Given the description of an element on the screen output the (x, y) to click on. 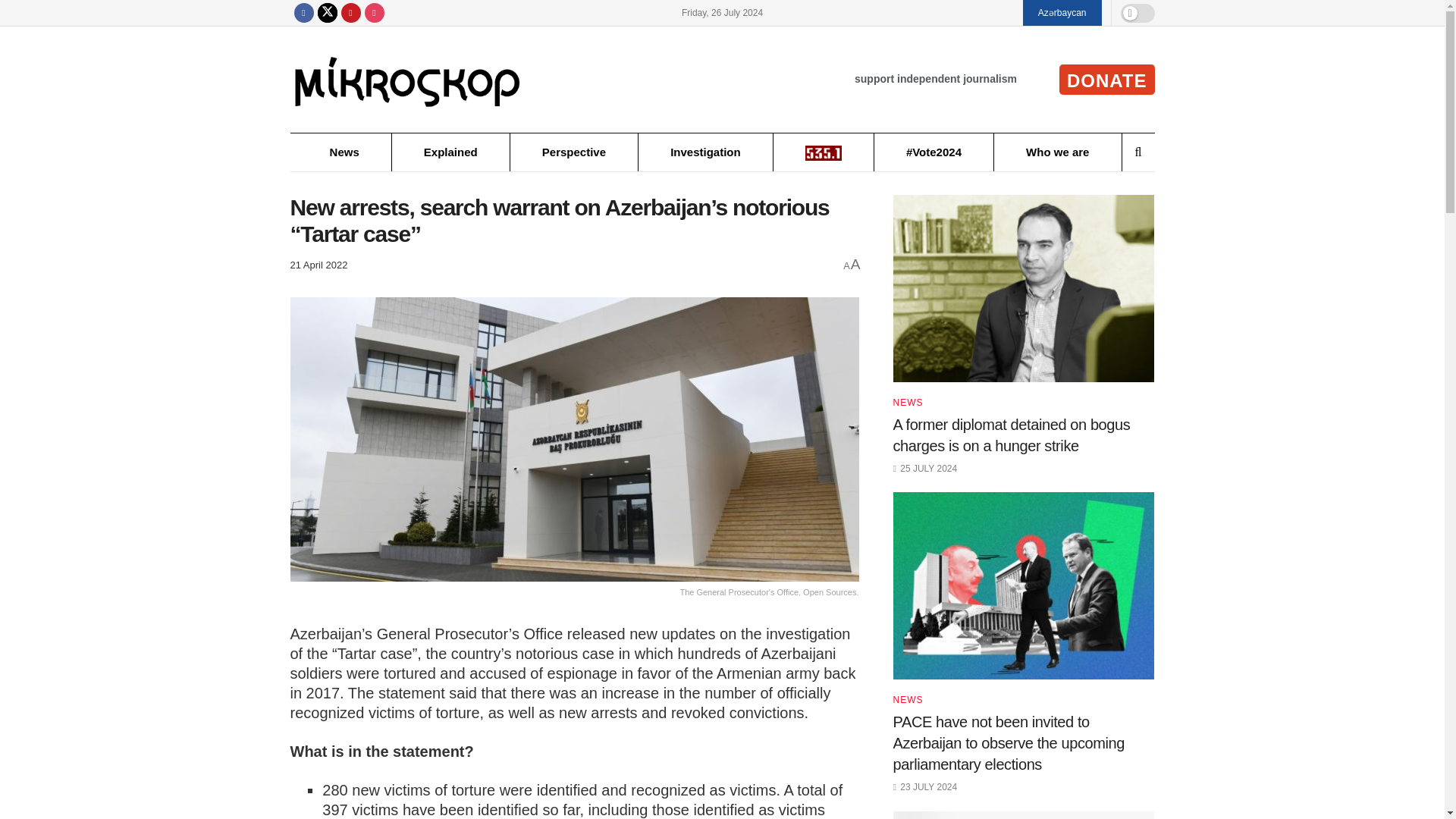
Explained (450, 151)
Who we are (1057, 151)
Investigation (705, 151)
DONATE (1106, 79)
News (344, 151)
Perspective (573, 151)
21 April 2022 (318, 265)
